Given the description of an element on the screen output the (x, y) to click on. 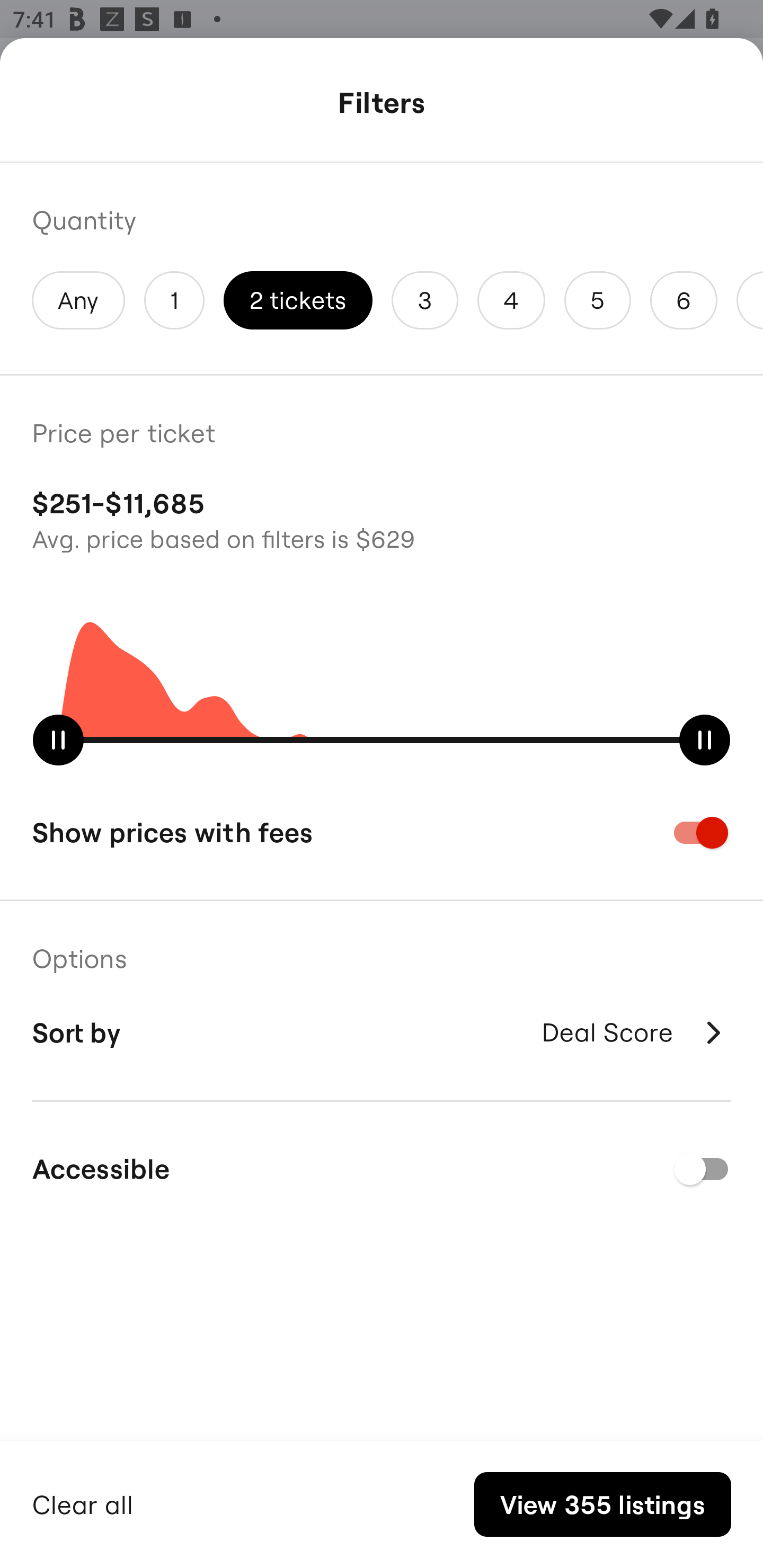
Any (78, 300)
1 (173, 300)
2 tickets (297, 300)
3 (424, 300)
4 (511, 300)
5 (597, 300)
6 (684, 300)
$251-$11,685 Avg. price based on filters is $629 (381, 518)
Show prices with fees (381, 832)
Sort by Deal Score (381, 1032)
Accessible (381, 1168)
Clear all (83, 1502)
View 355 listings (602, 1504)
